Given the description of an element on the screen output the (x, y) to click on. 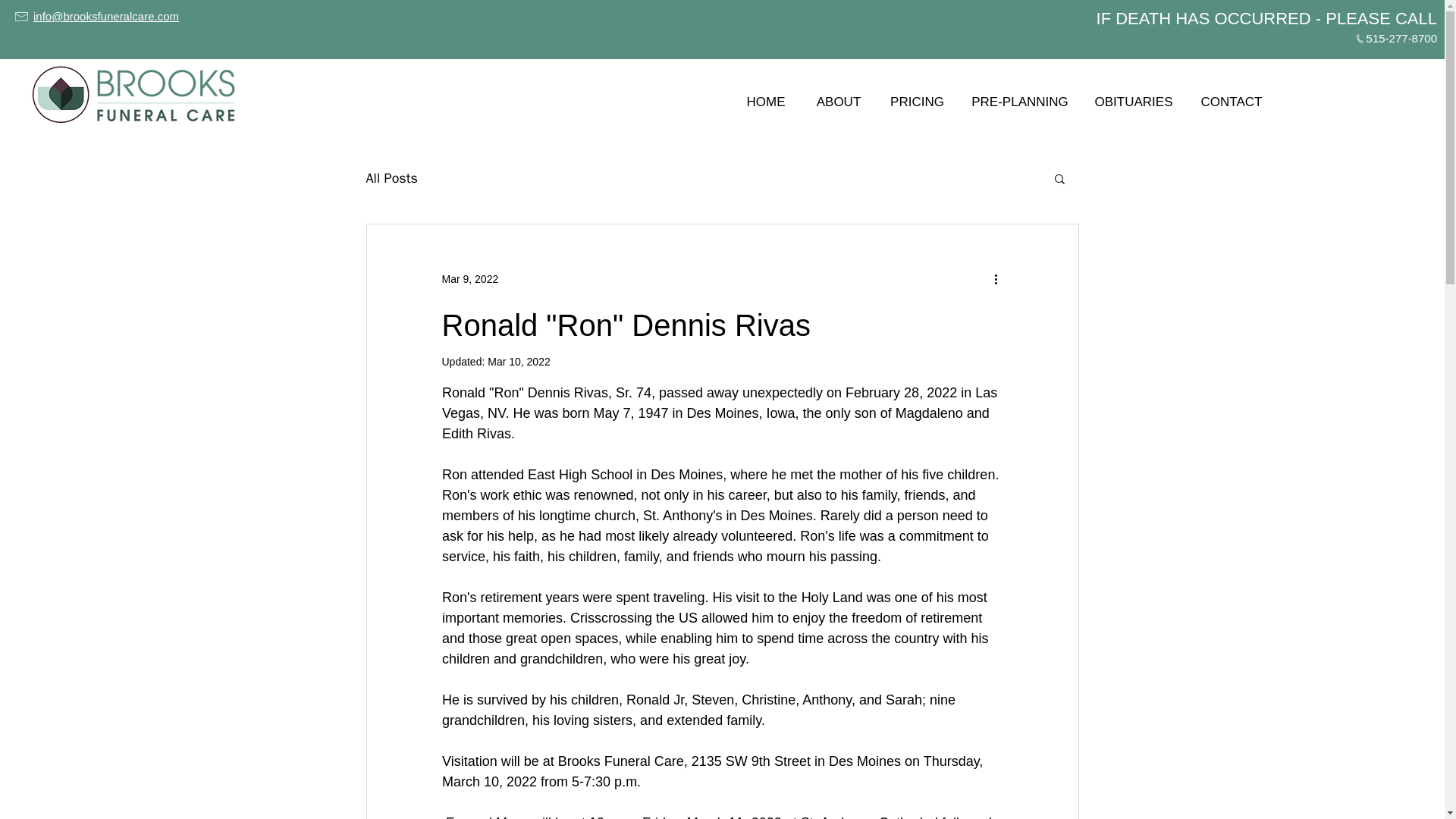
Mar 10, 2022 (518, 361)
ABOUT (838, 95)
Mar 9, 2022 (469, 278)
HOME (765, 95)
PRICING (917, 95)
OBITUARIES (1133, 95)
515-277-8700 (1402, 38)
CALL (1415, 18)
All Posts (390, 177)
CONTACT (1231, 95)
